Given the description of an element on the screen output the (x, y) to click on. 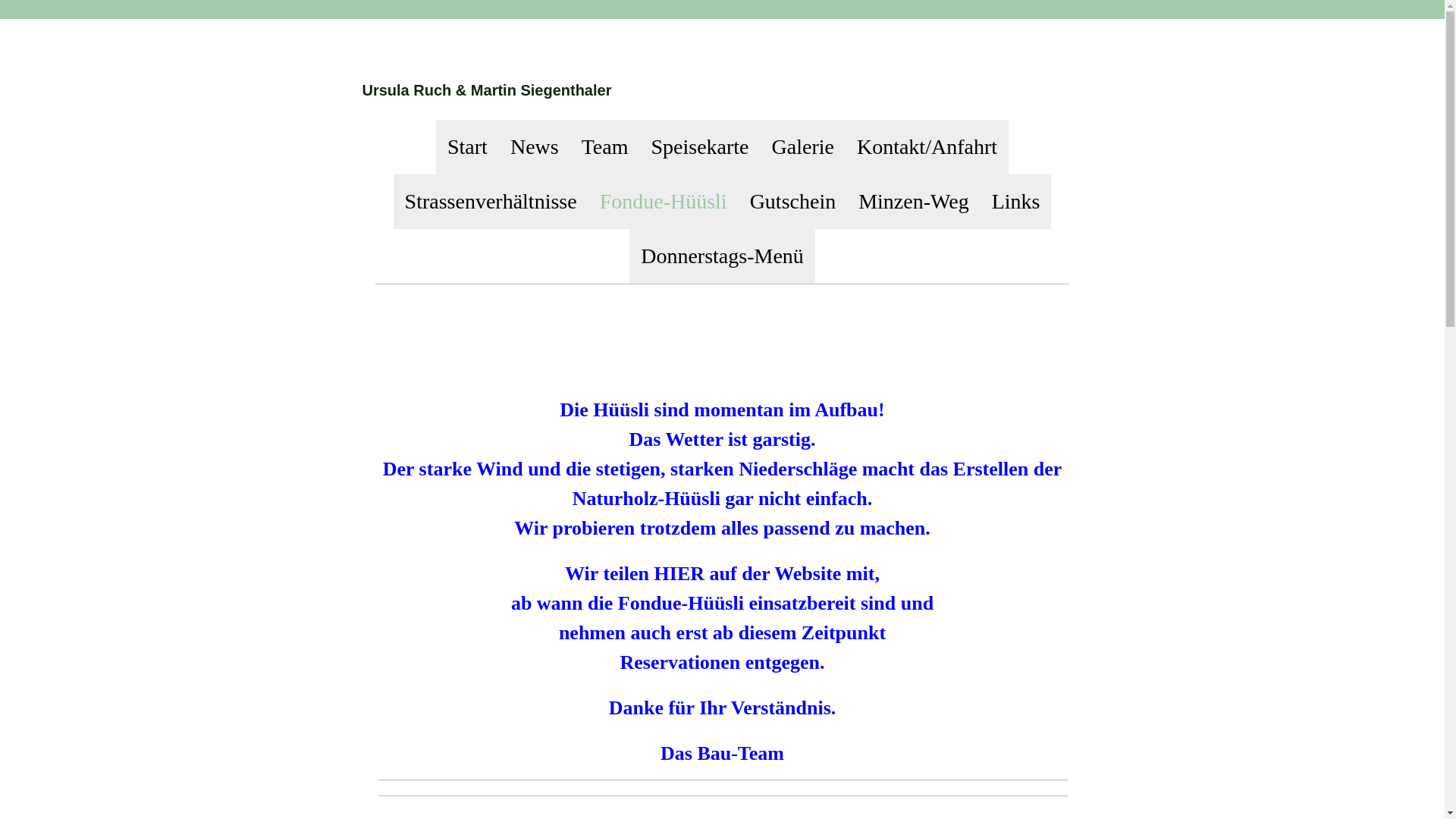
News Element type: text (534, 146)
Kontakt/Anfahrt Element type: text (926, 146)
Speisekarte Element type: text (699, 146)
Links Element type: text (1015, 201)
Start Element type: text (467, 146)
Ursula Ruch & Martin Siegenthaler Element type: text (486, 90)
Team Element type: text (605, 146)
Galerie Element type: text (802, 146)
Minzen-Weg Element type: text (913, 201)
Gutschein Element type: text (792, 201)
